Given the description of an element on the screen output the (x, y) to click on. 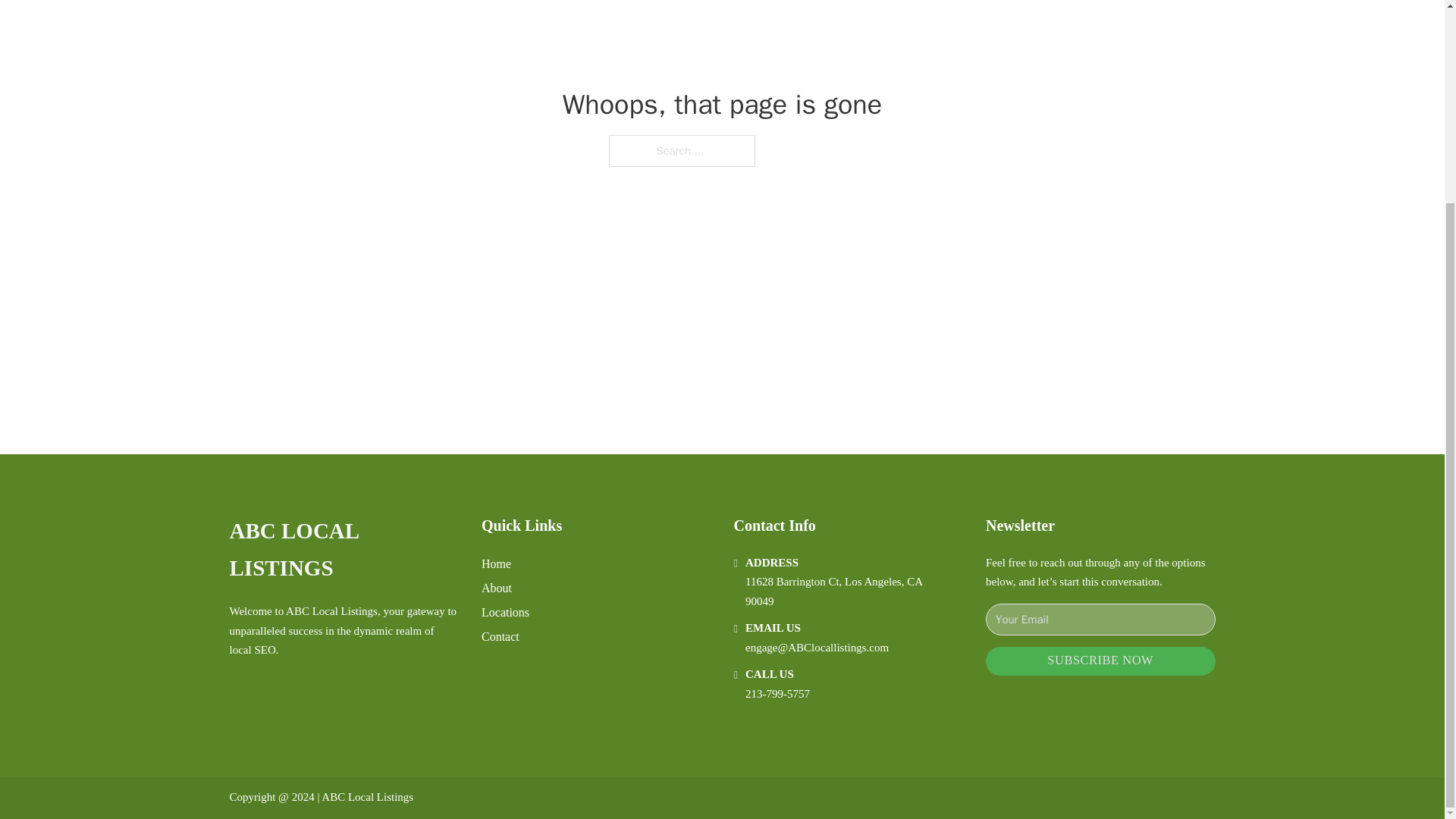
Home (496, 563)
Locations (505, 611)
ABC LOCAL LISTINGS (343, 550)
About (496, 588)
213-799-5757 (777, 693)
SUBSCRIBE NOW (1100, 661)
Contact (500, 636)
